Given the description of an element on the screen output the (x, y) to click on. 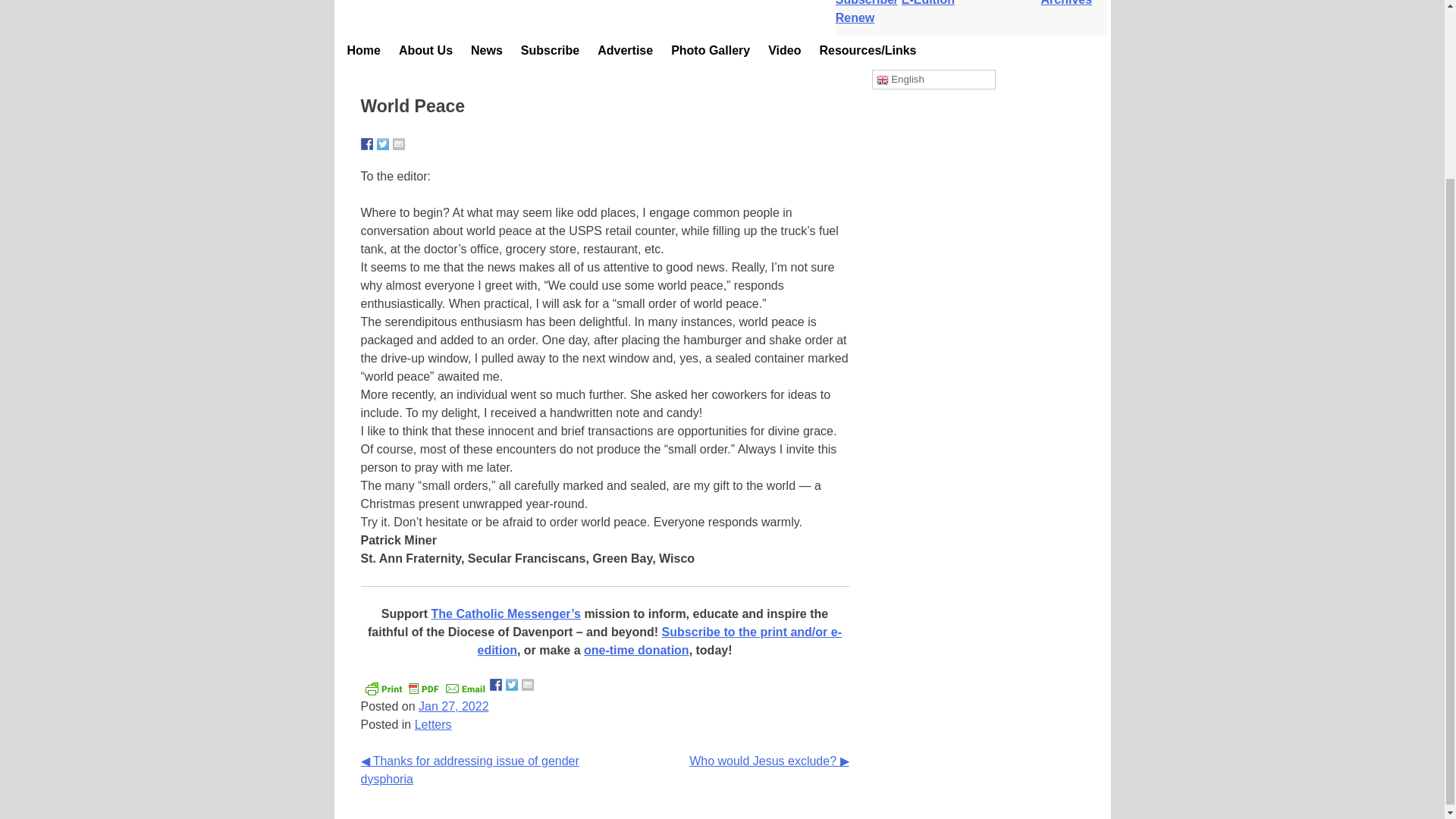
News (487, 50)
Share on Twitter (510, 684)
Share on Twitter (381, 143)
Share on Facebook (495, 684)
Share on Facebook (366, 143)
Share by email (527, 684)
E-Edition (933, 2)
About Us (425, 50)
Share by email (398, 143)
Archives (1073, 2)
Advertise (625, 50)
Subscribe (549, 50)
Home (363, 50)
